Given the description of an element on the screen output the (x, y) to click on. 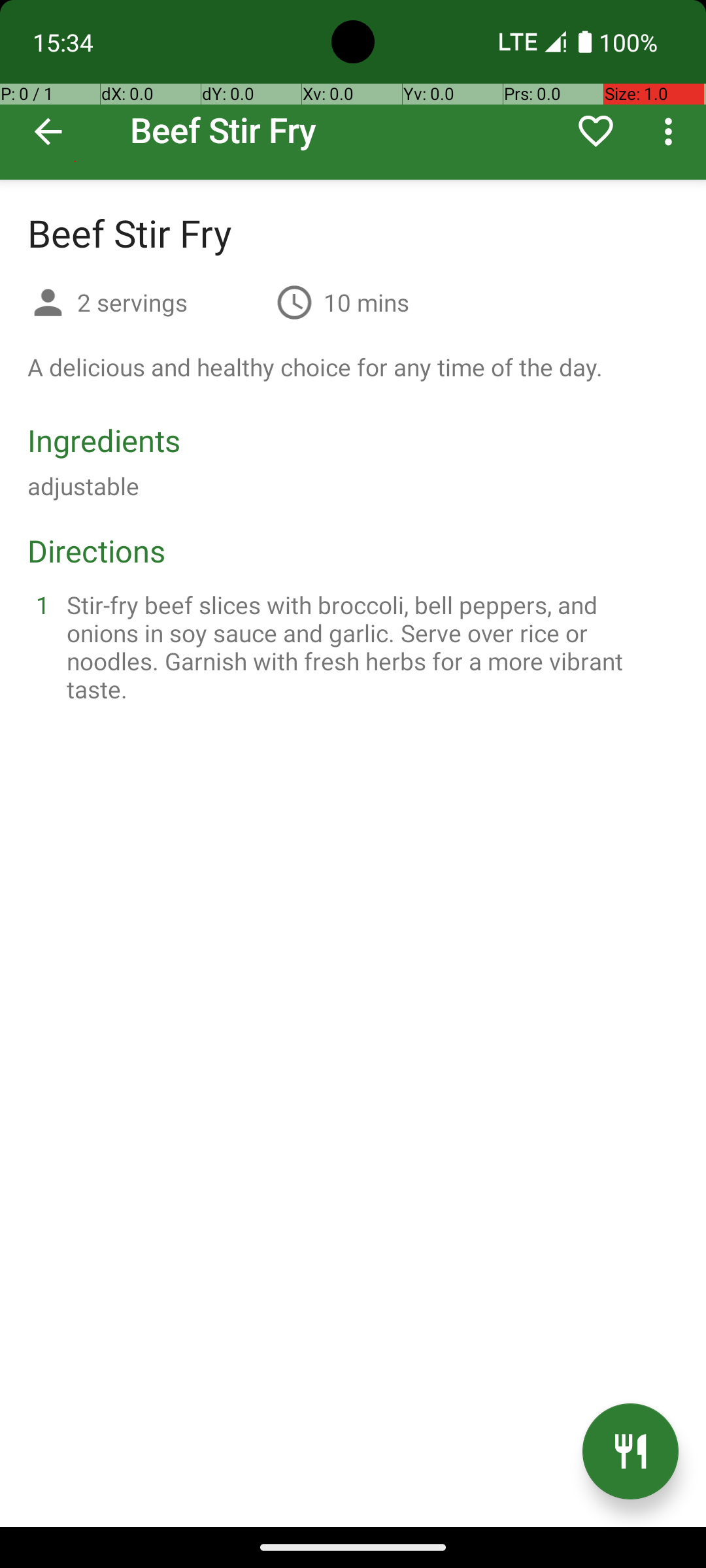
adjustable Element type: android.widget.TextView (83, 485)
Stir-fry beef slices with broccoli, bell peppers, and onions in soy sauce and garlic. Serve over rice or noodles. Garnish with fresh herbs for a more vibrant taste. Element type: android.widget.TextView (368, 646)
